Given the description of an element on the screen output the (x, y) to click on. 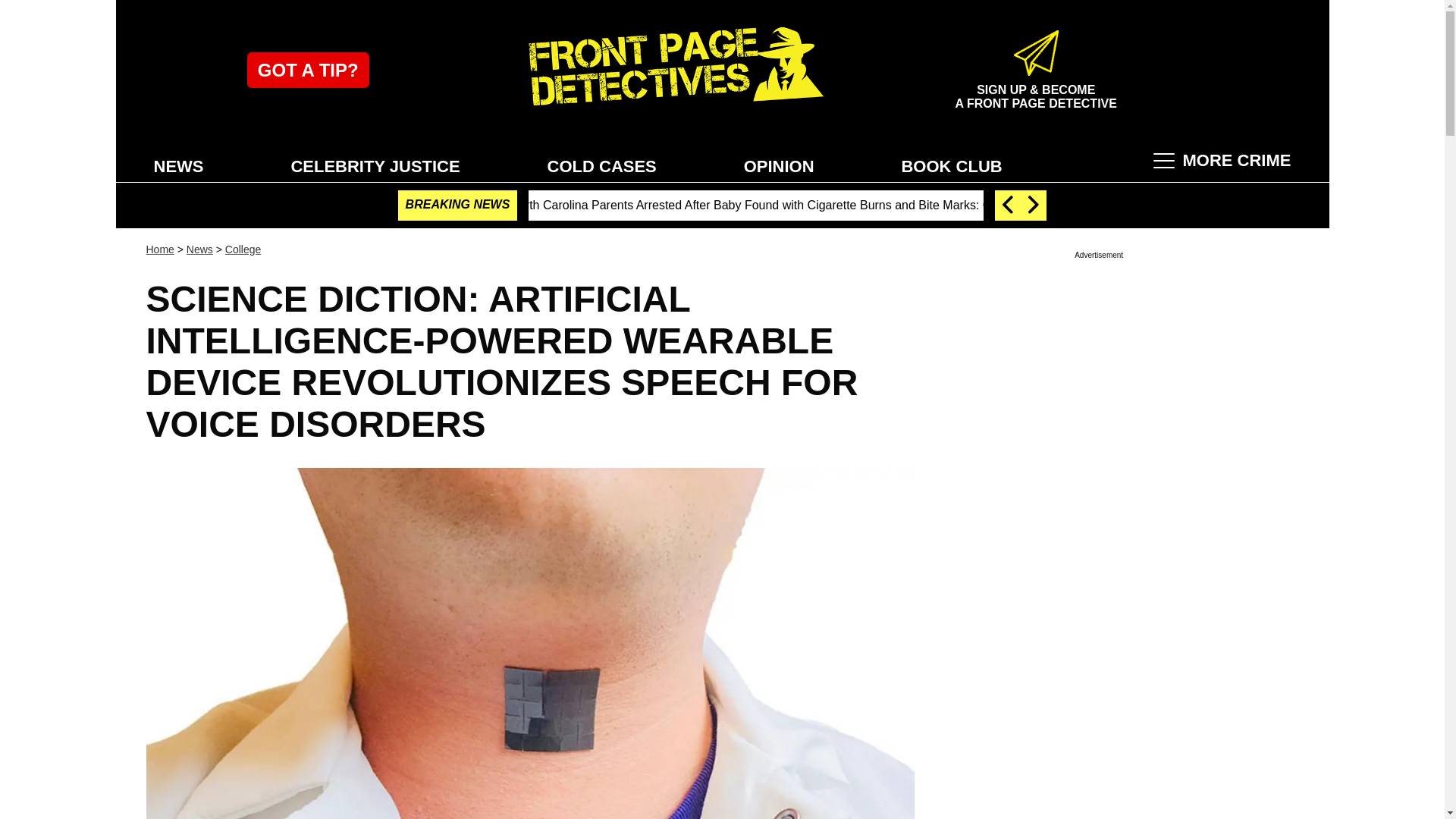
NEWS (178, 164)
College (242, 249)
Home (159, 249)
News (199, 249)
Email us your tip (308, 69)
OPINION (779, 164)
CELEBRITY JUSTICE (374, 164)
BOOK CLUB (951, 164)
GOT A TIP? (308, 69)
Front Page Detective (671, 70)
Sign up for your daily dose of dope. (1036, 89)
COLD CASES (601, 164)
